Given the description of an element on the screen output the (x, y) to click on. 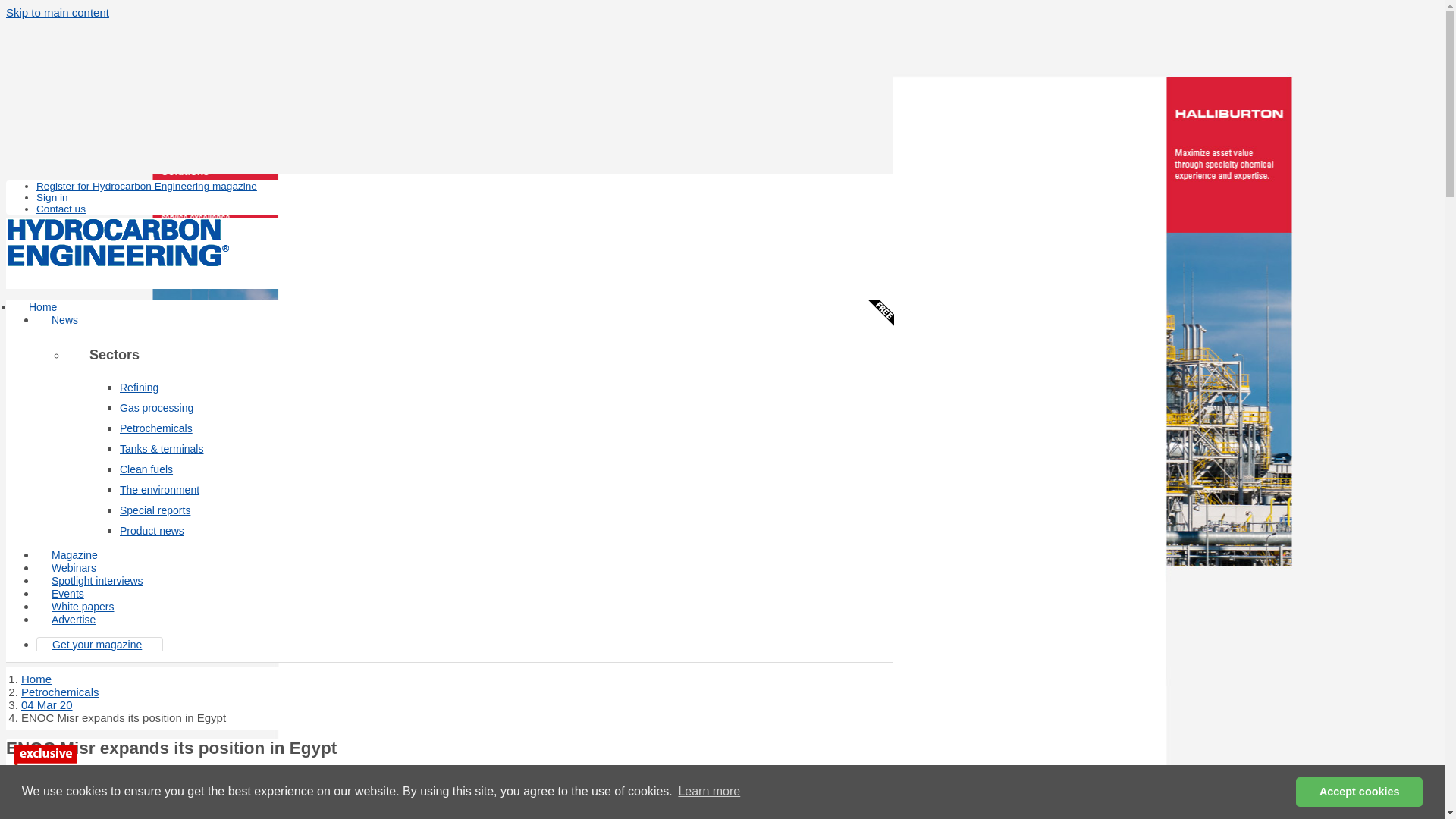
Save to read list (47, 779)
Home (35, 678)
White papers (82, 605)
Refining (138, 387)
Gas processing (156, 408)
3rd party ad content (449, 56)
Skip to main content (57, 11)
Learn more (708, 791)
Webinars (74, 567)
The environment (159, 490)
Magazine (74, 554)
Petrochemicals (155, 428)
Spotlight interviews (97, 580)
News (64, 319)
Contact us (60, 208)
